Given the description of an element on the screen output the (x, y) to click on. 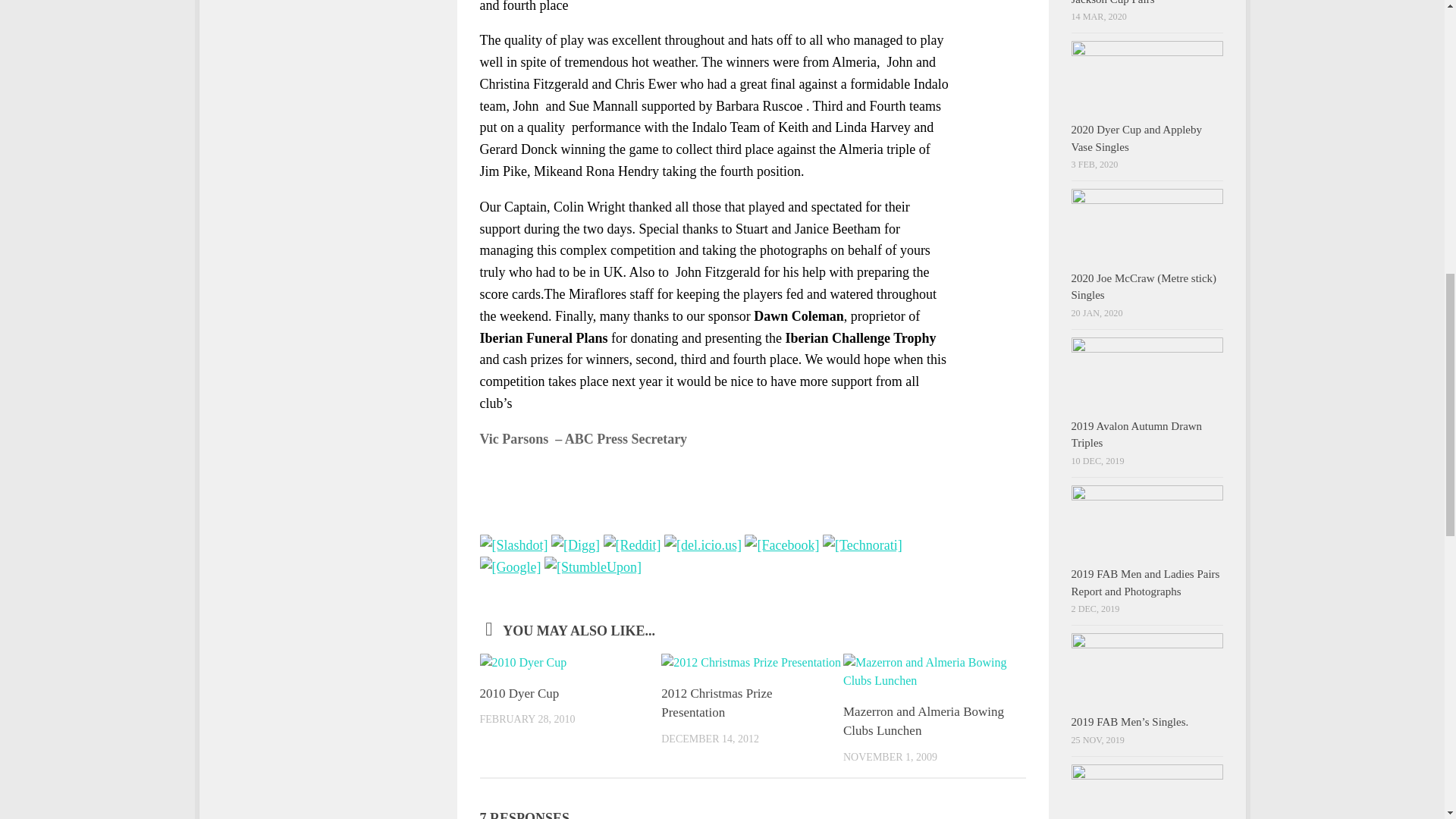
Reddit (632, 544)
2010 Dyer Cup (519, 693)
2012 Christmas Prize Presentation (716, 703)
Slashdot It! (513, 544)
Digg This Story (575, 544)
